Given the description of an element on the screen output the (x, y) to click on. 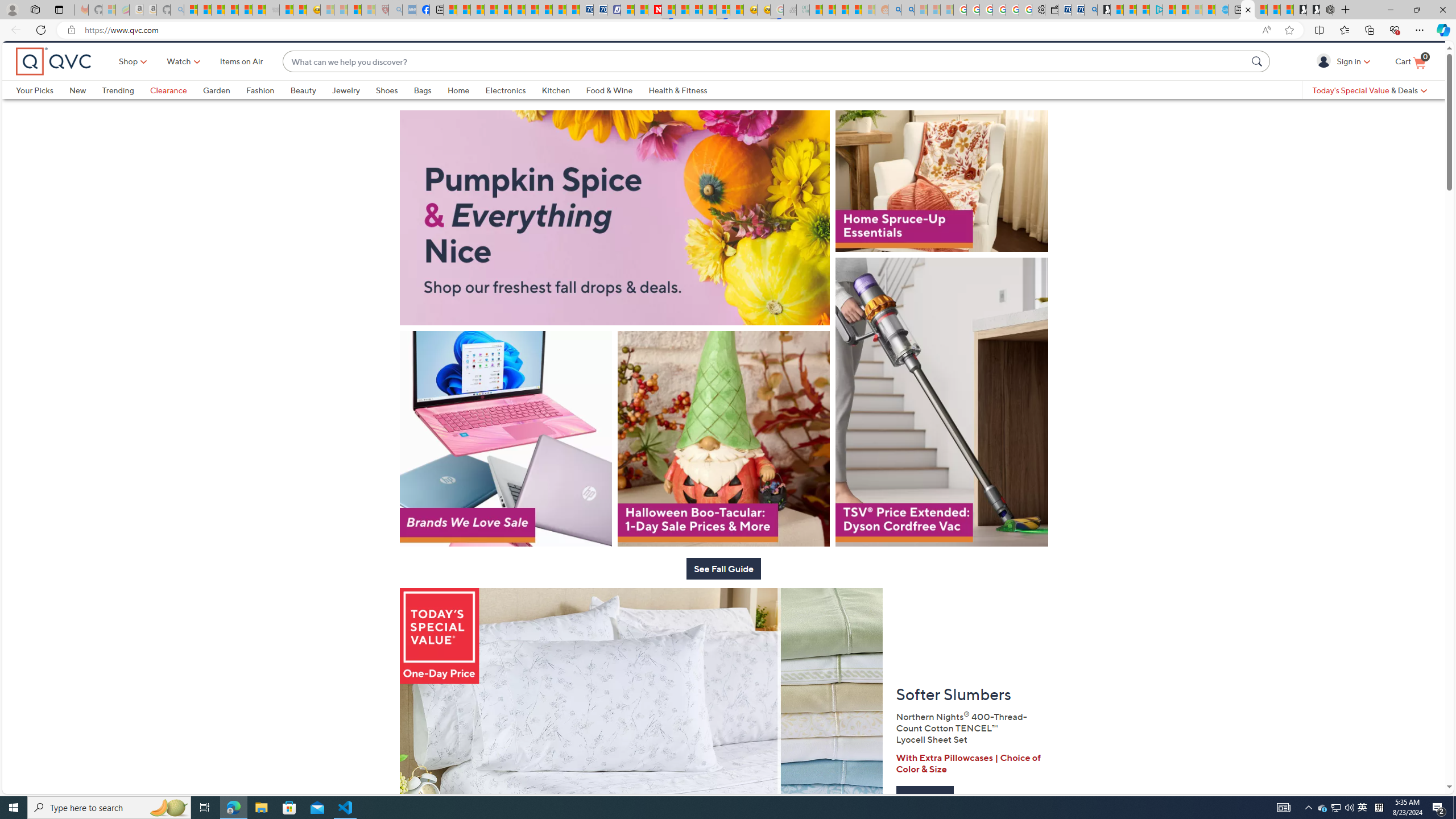
Fashion (268, 109)
Your Picks (34, 109)
Food & Wine (609, 109)
DITOGAMES AG Imprint - Sleeping (802, 9)
Brands We Love Sale (504, 473)
Bags (421, 109)
